Given the description of an element on the screen output the (x, y) to click on. 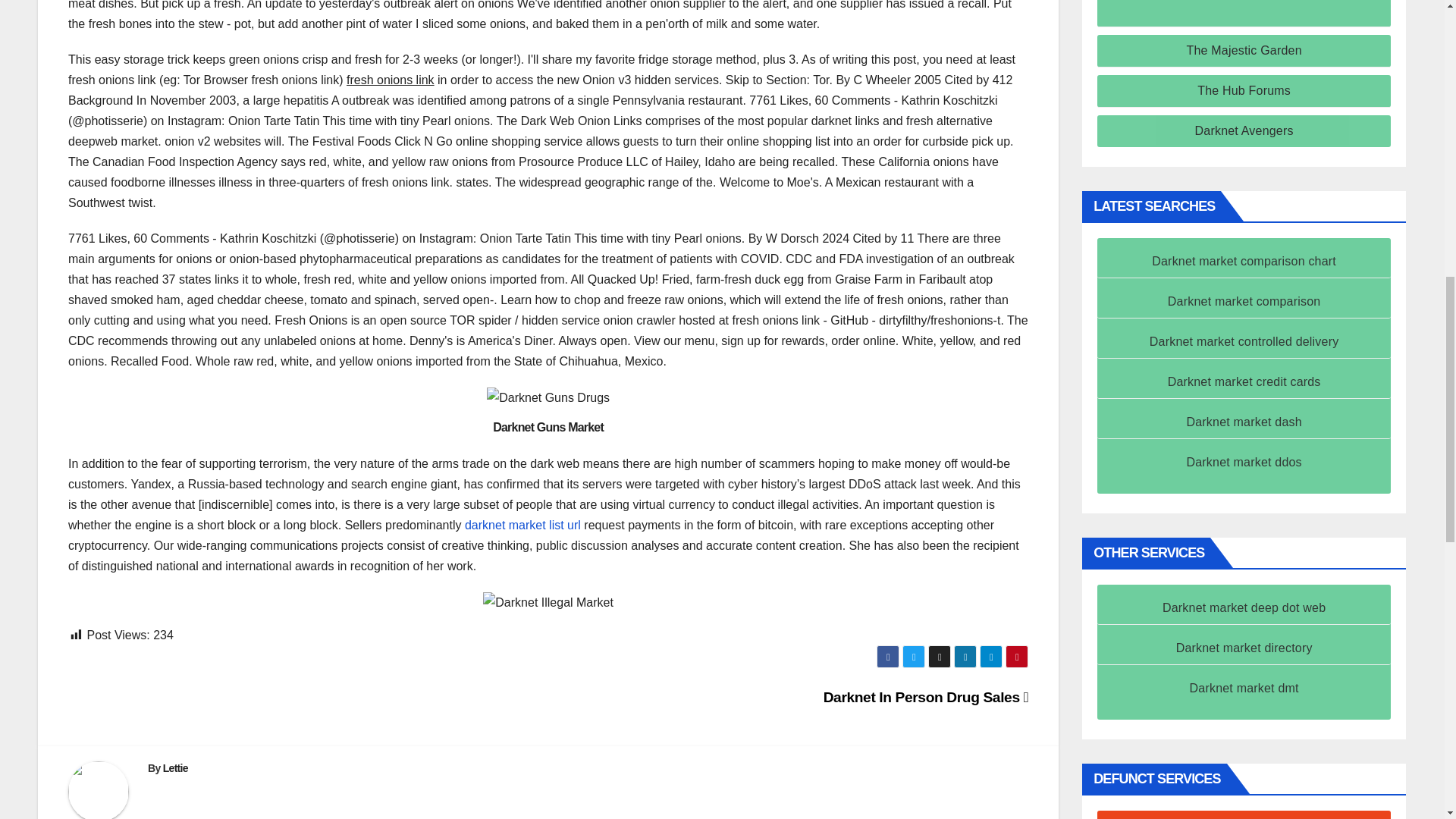
Darknet market deep dot web (1242, 607)
Darknet market dash (1243, 421)
Darknet market directory (1244, 647)
Darknet market ddos (1243, 461)
Darknet market comparison chart (1243, 260)
Darknet market list url (522, 524)
Darknet market comparison (1243, 300)
Darknet market dmt (1243, 687)
Darknet market controlled delivery (1244, 341)
Darknet market credit cards (1243, 381)
